Given the description of an element on the screen output the (x, y) to click on. 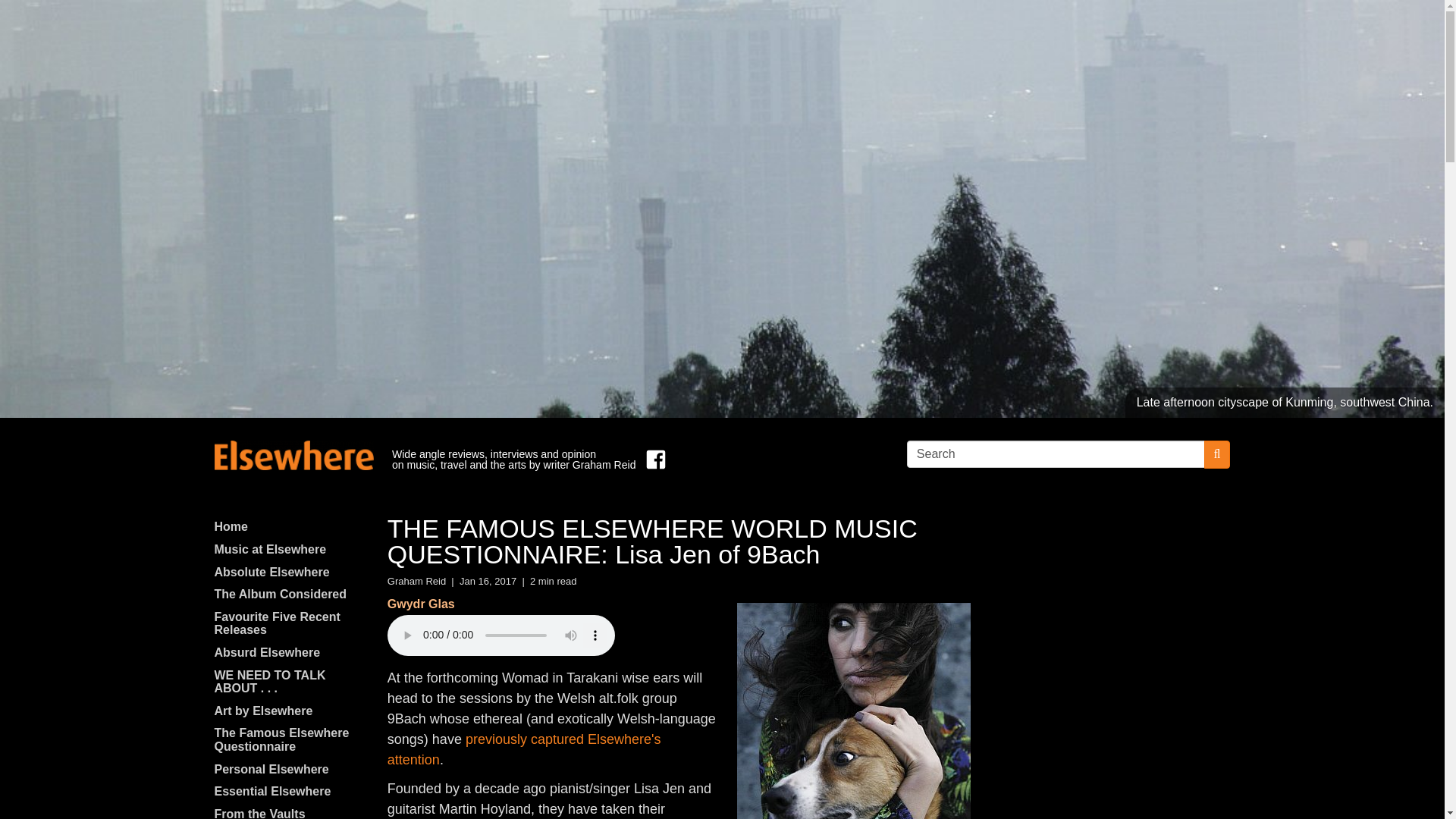
Elsewhere by Graham Reid (293, 455)
Find us on Facebook (652, 459)
Search (1056, 453)
Search (1056, 453)
